Given the description of an element on the screen output the (x, y) to click on. 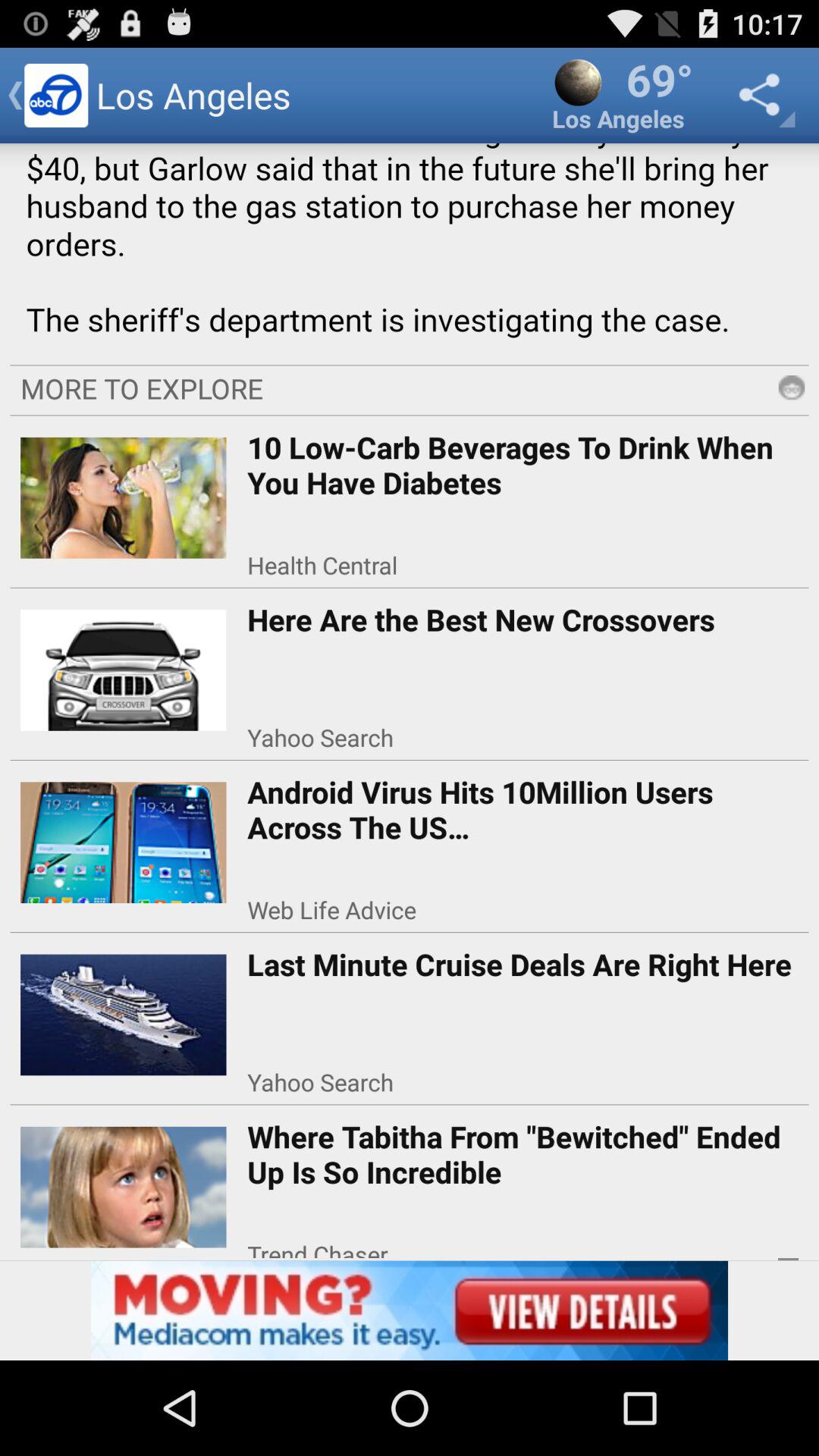
click to read the full news story (409, 248)
